Given the description of an element on the screen output the (x, y) to click on. 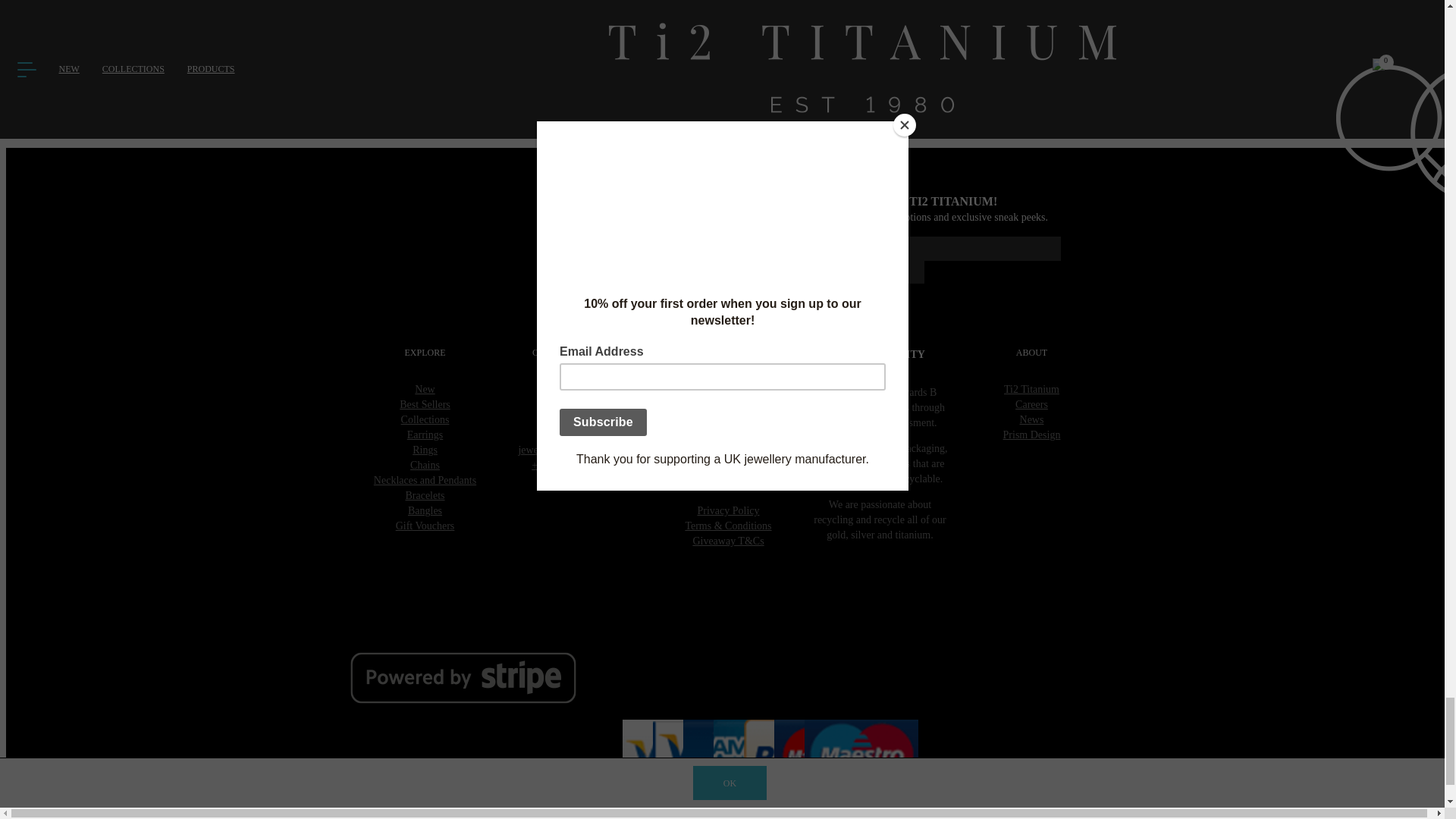
Customer reviews powered by Trustpilot (727, 96)
